Given the description of an element on the screen output the (x, y) to click on. 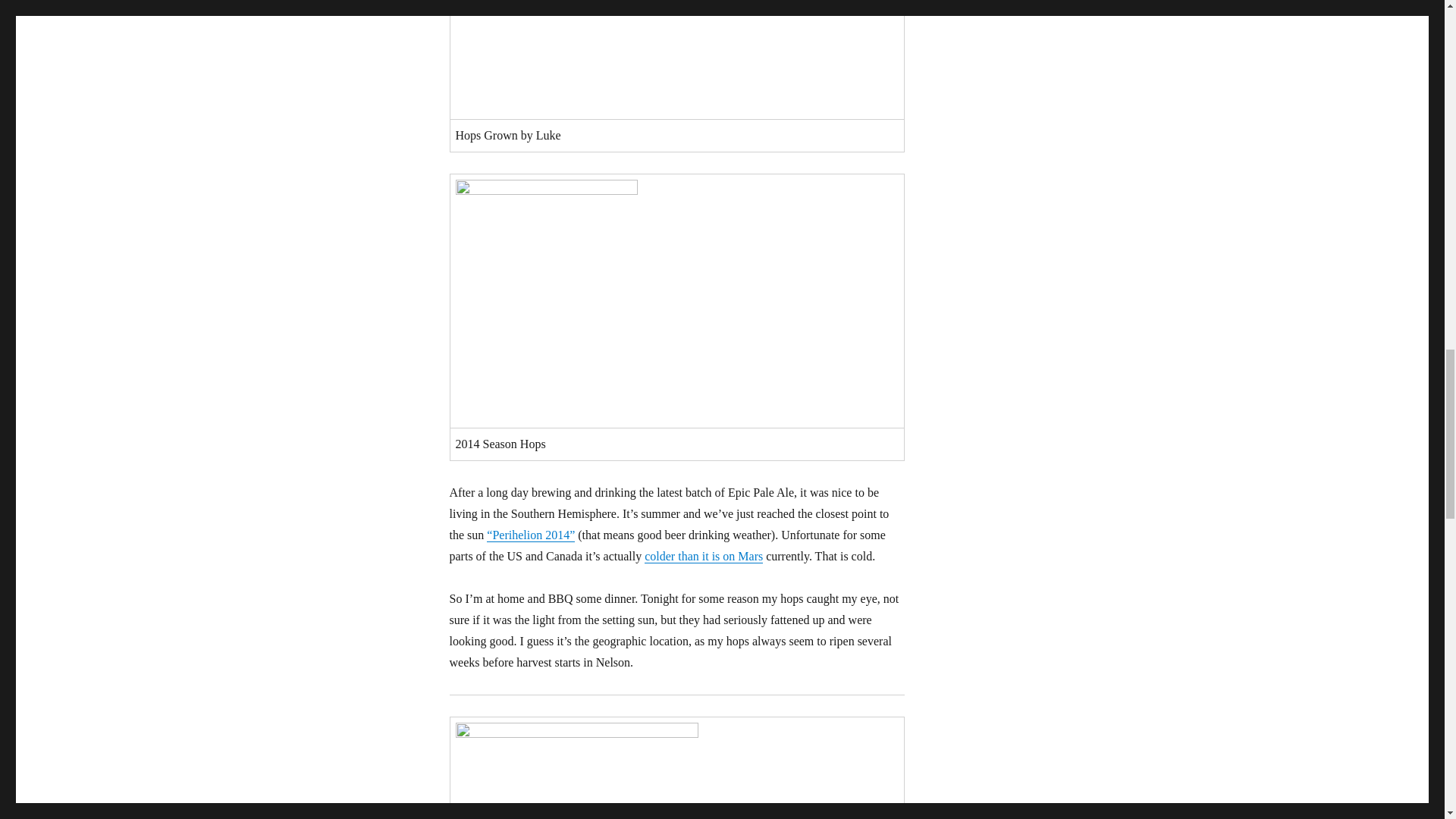
colder than it is on Mars (703, 555)
